Given the description of an element on the screen output the (x, y) to click on. 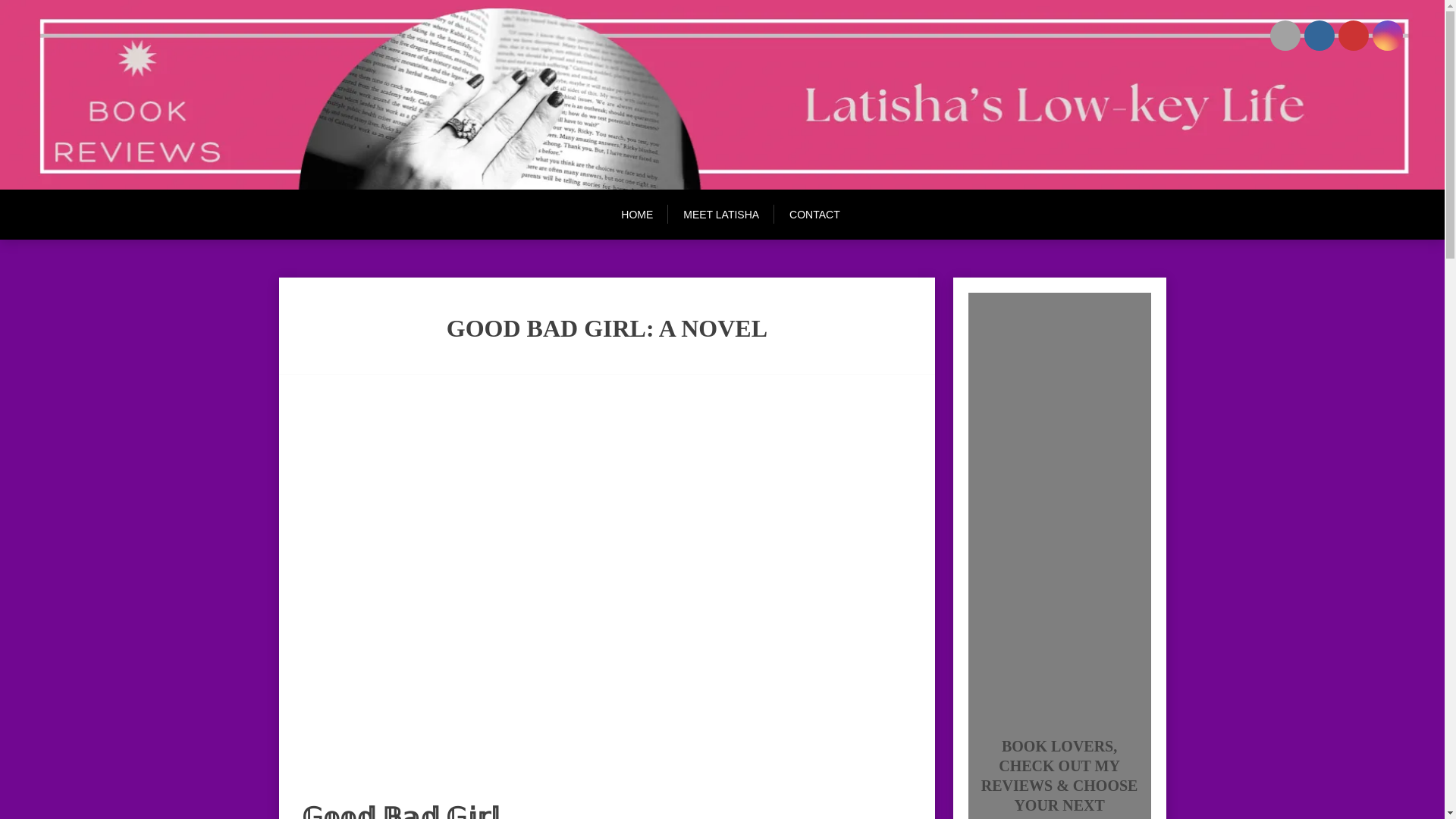
MEET LATISHA (721, 214)
LATISHA'S LOW-KEY LIFE (246, 83)
HOME (644, 214)
CONTACT (815, 214)
